Given the description of an element on the screen output the (x, y) to click on. 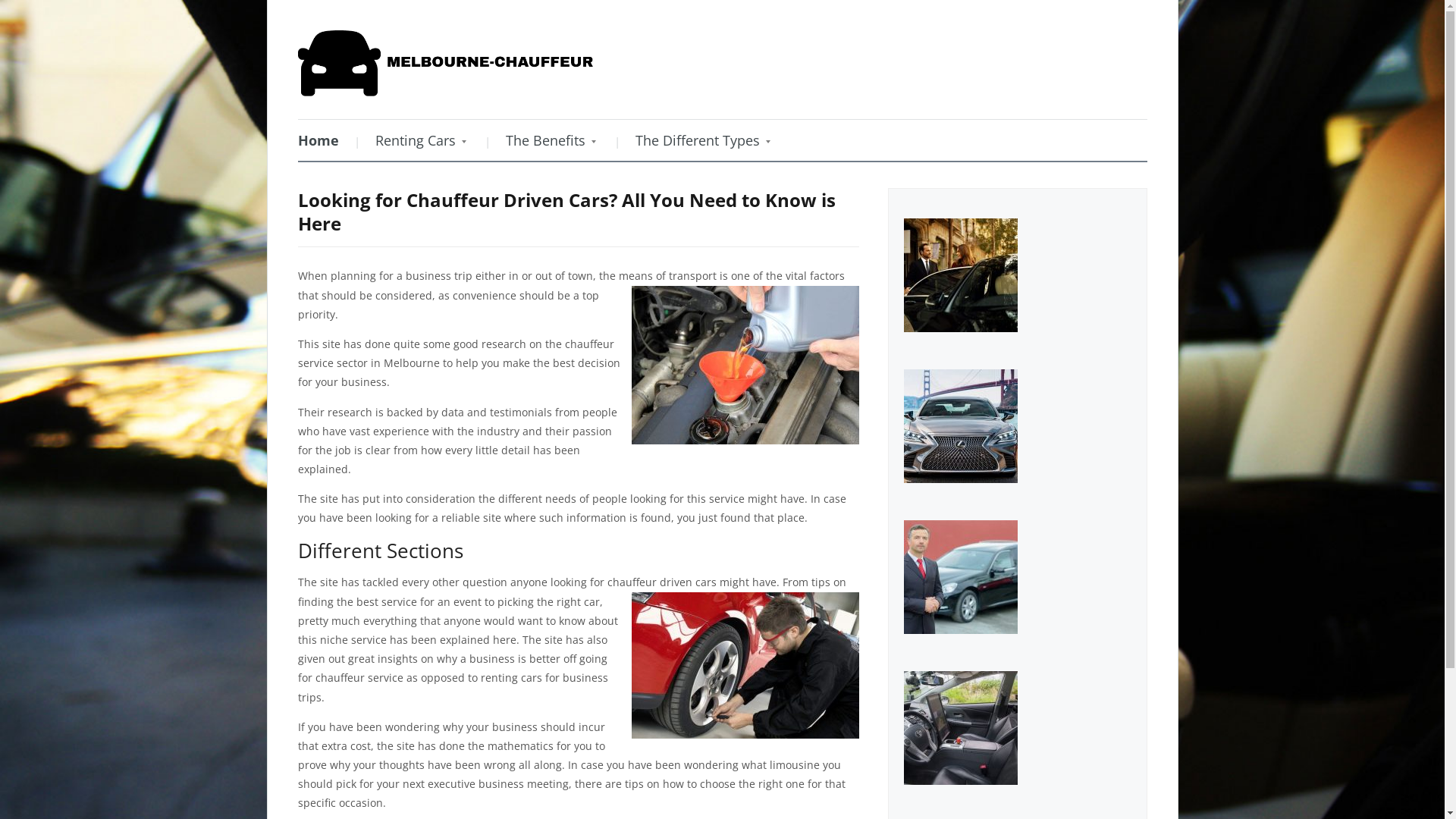
Home Element type: text (325, 139)
